Given the description of an element on the screen output the (x, y) to click on. 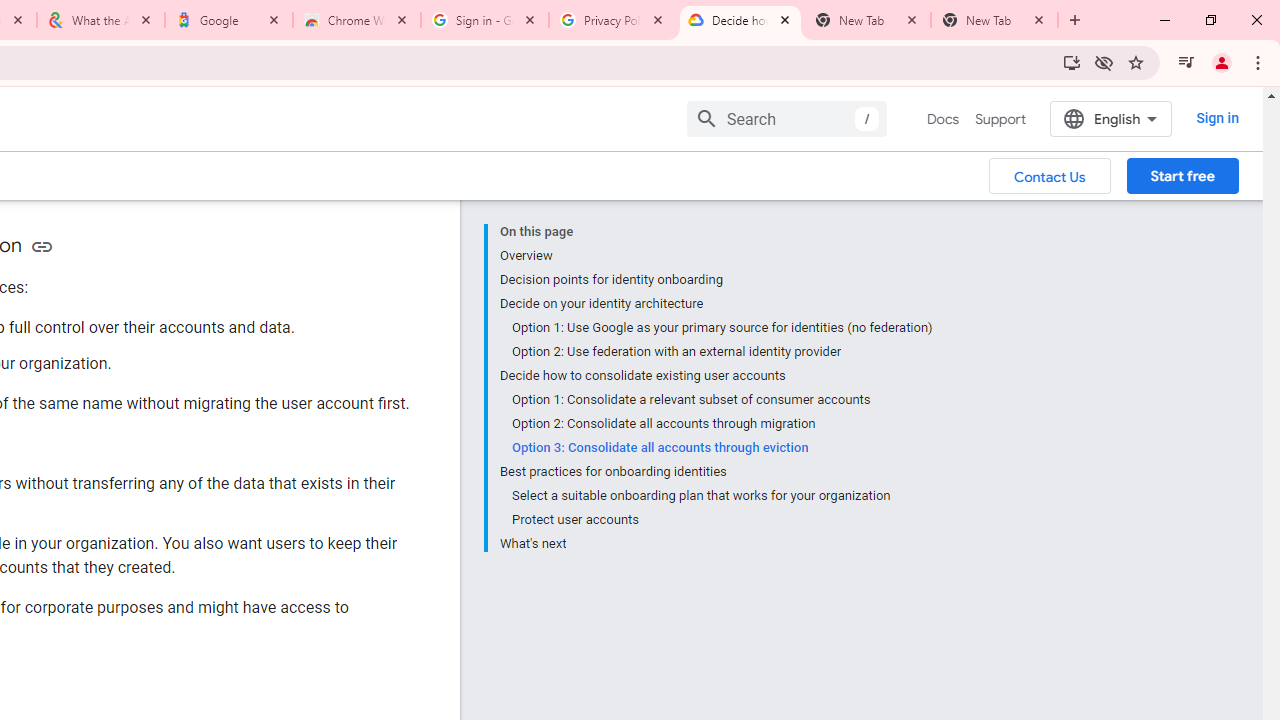
Protect user accounts (721, 520)
Option 2: Consolidate all accounts through migration (721, 423)
Option 3: Consolidate all accounts through eviction (721, 448)
Option 1: Consolidate a relevant subset of consumer accounts (721, 399)
Chrome Web Store - Color themes by Chrome (357, 20)
Google (229, 20)
Decide how to consolidate existing user accounts (716, 376)
